Given the description of an element on the screen output the (x, y) to click on. 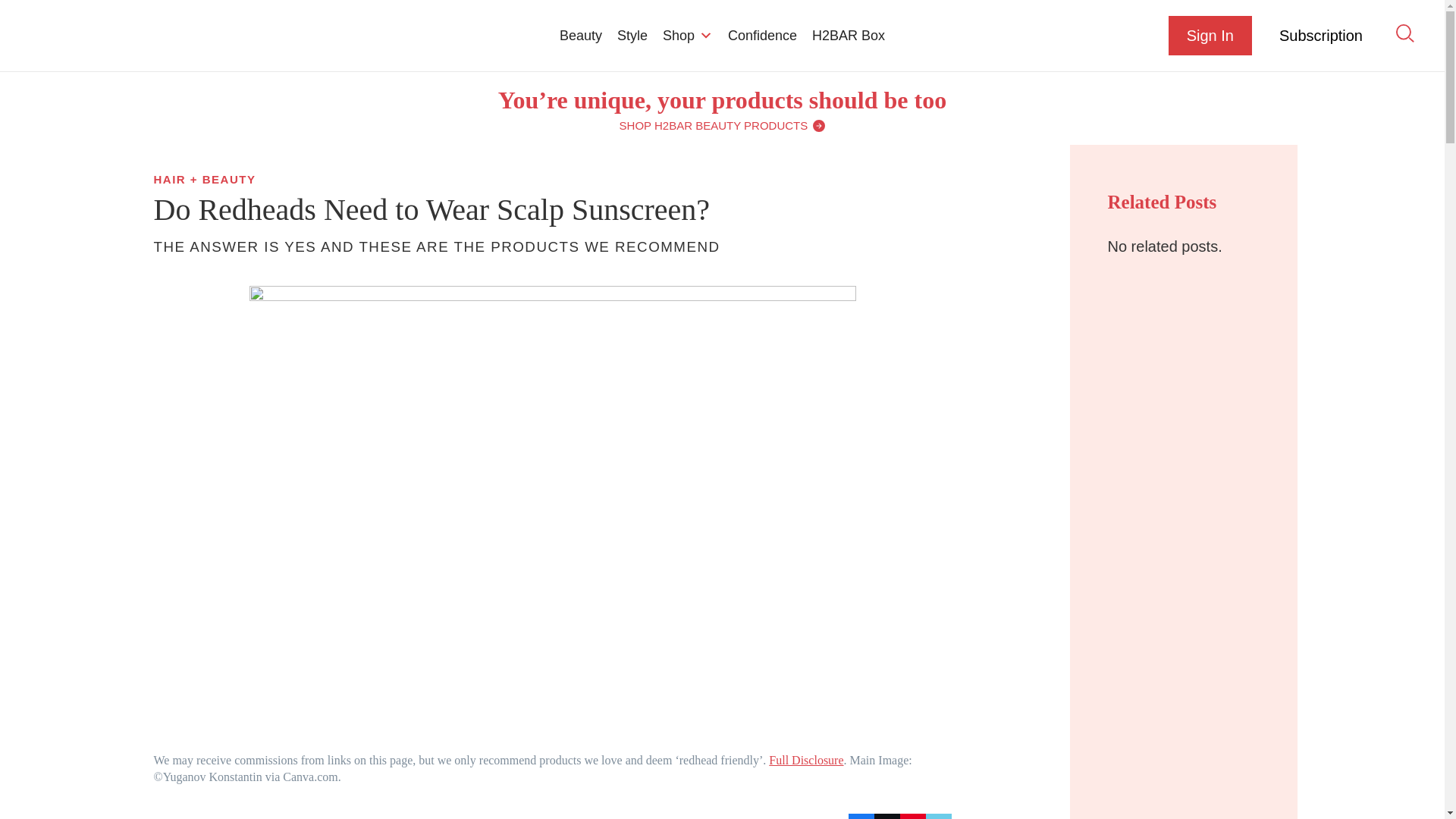
H2BAR Box (848, 35)
Style (632, 35)
Shop (687, 35)
Sign In (1210, 35)
Sign In (1210, 35)
Confidence (762, 35)
Beauty (580, 35)
Full Disclosure (805, 759)
